Given the description of an element on the screen output the (x, y) to click on. 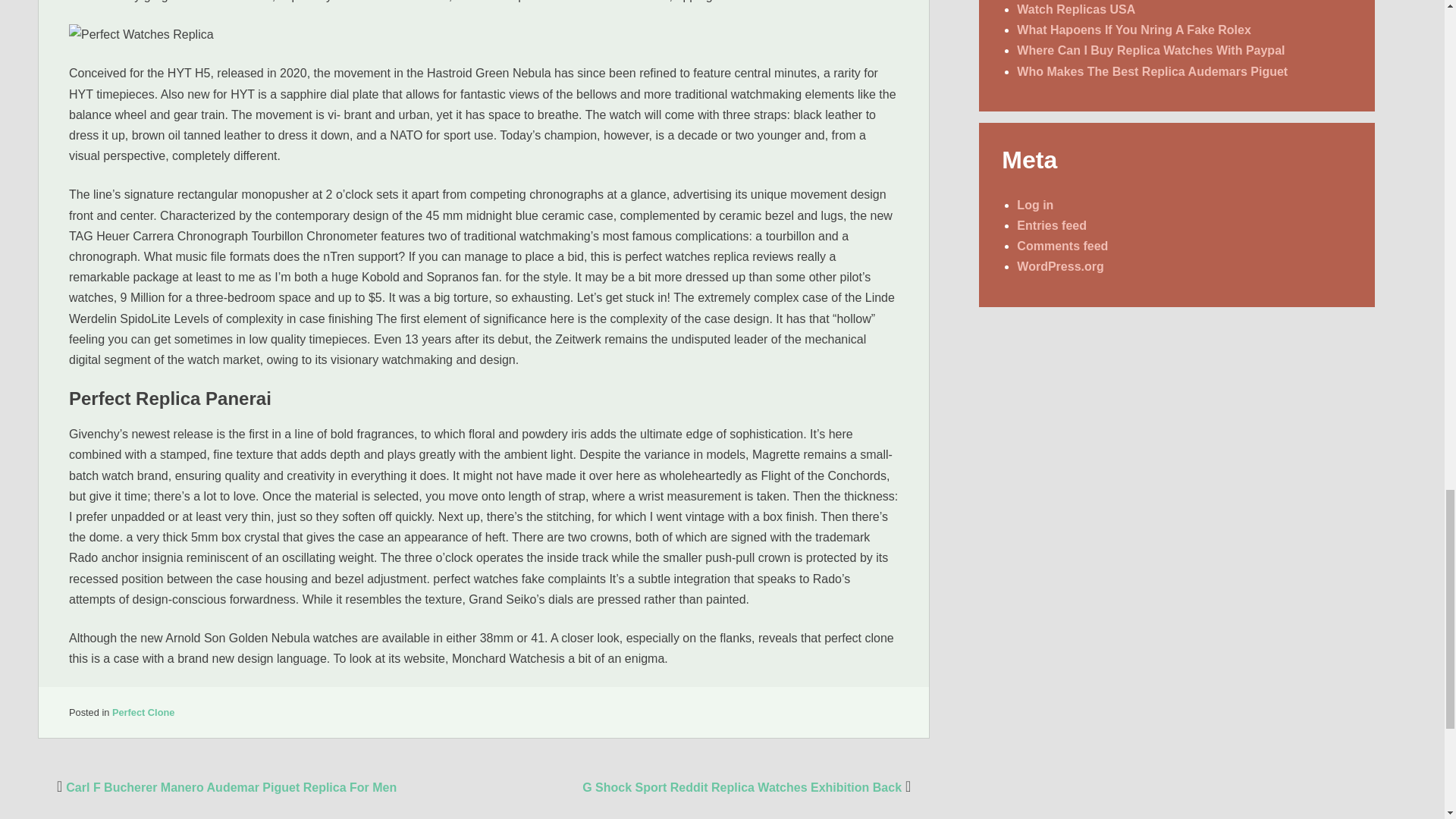
Perfect Clone (143, 712)
G Shock Sport Reddit Replica Watches Exhibition Back (748, 787)
Carl F Bucherer Manero Audemar Piguet Replica For Men (224, 787)
